Given the description of an element on the screen output the (x, y) to click on. 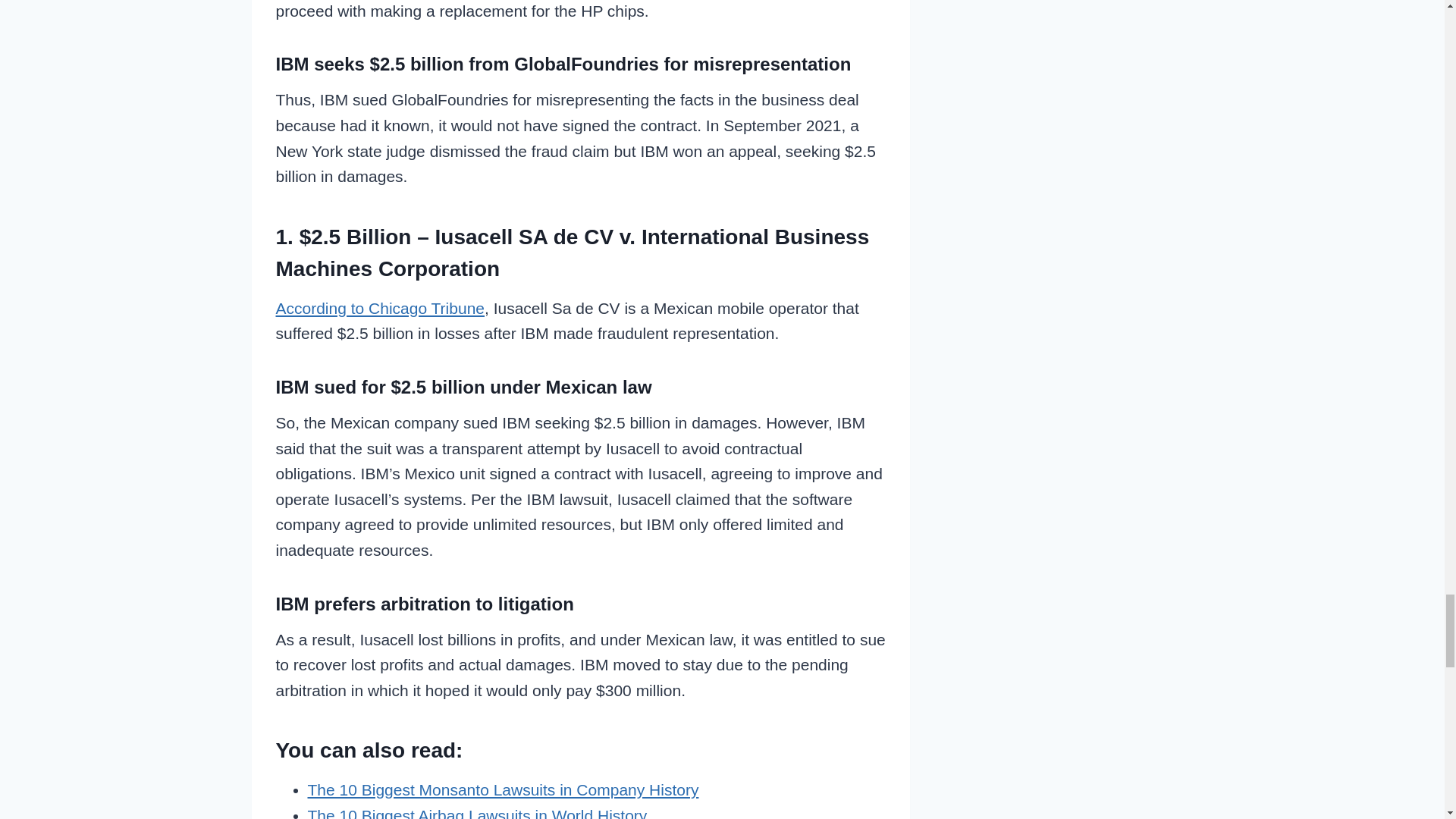
According to Chicago Tribune (380, 307)
The 10 Biggest Monsanto Lawsuits in Company History (502, 789)
The 10 Biggest Airbag Lawsuits in World History (477, 812)
